Given the description of an element on the screen output the (x, y) to click on. 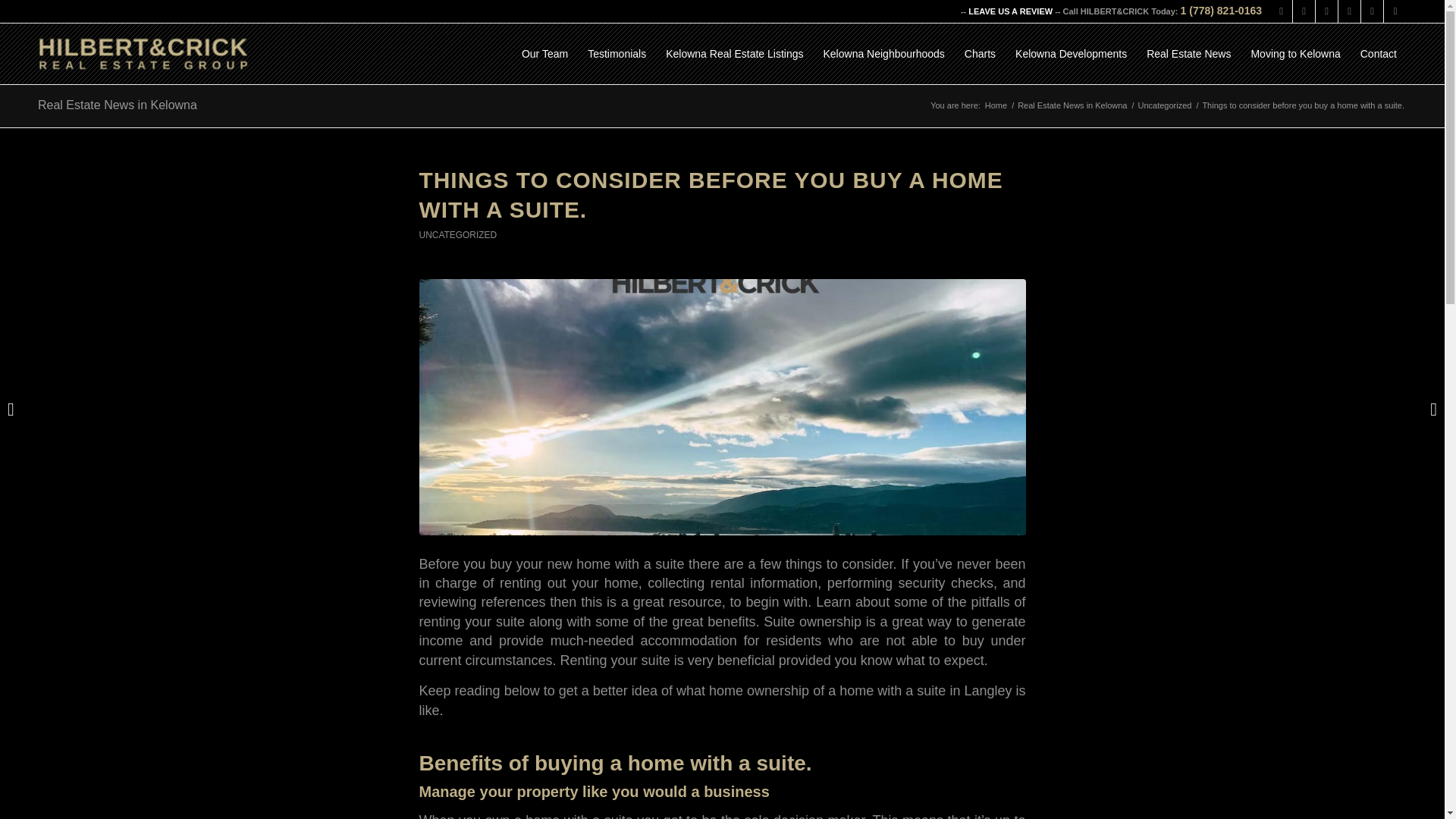
LEAVE US A REVIEW (1010, 10)
Facebook (1327, 11)
Kelowna Neighbourhoods (882, 53)
Instagram (1280, 11)
Permanent Link: Real Estate News in Kelowna (116, 104)
Twitter (1303, 11)
Kelowna Real Estate Listings (734, 53)
Real Estate News in Kelowna (1071, 105)
Our Team (545, 53)
Youtube (1348, 11)
Mail (1395, 11)
Testimonials (617, 53)
LinkedIn (1372, 11)
